Given the description of an element on the screen output the (x, y) to click on. 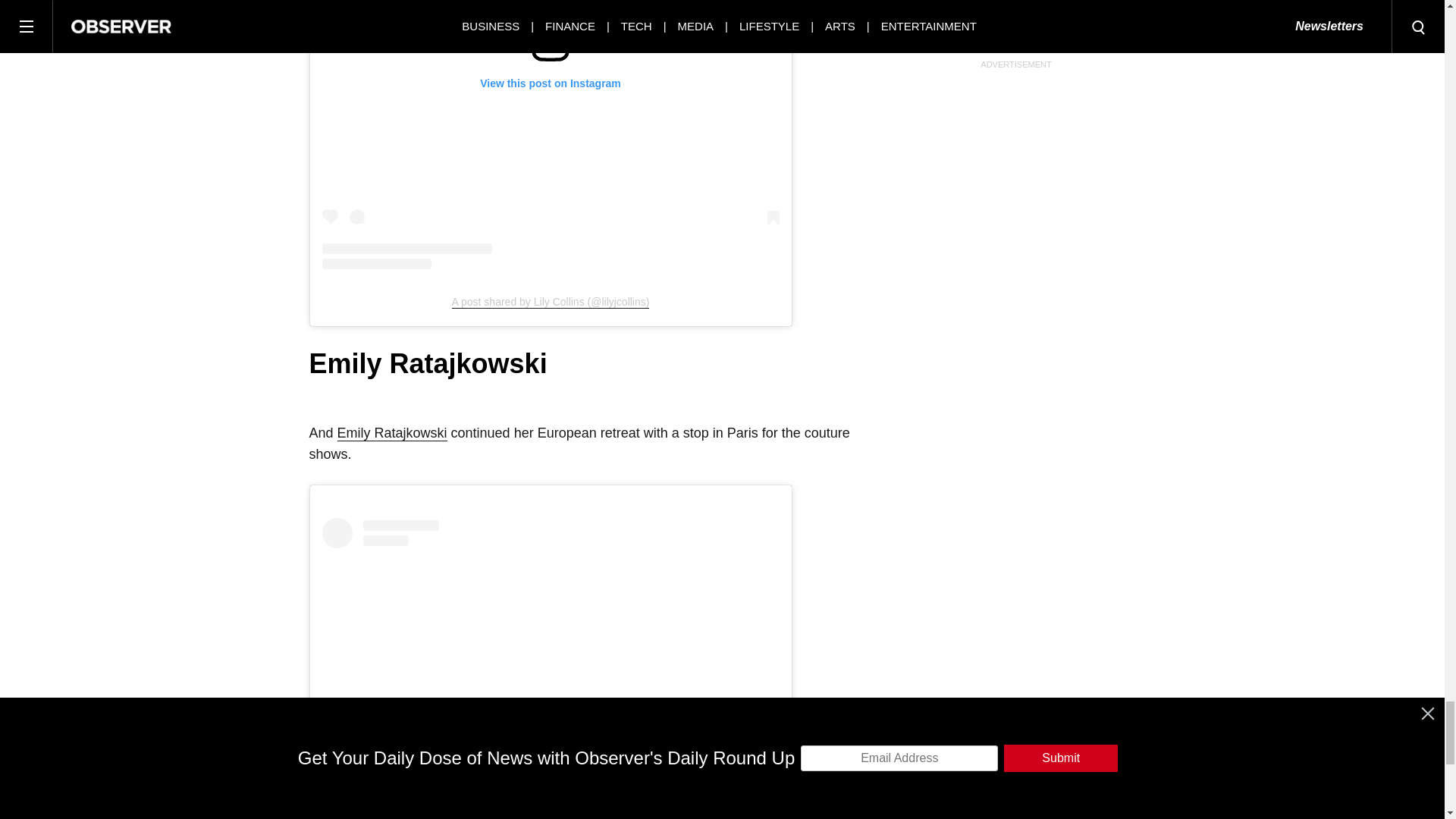
Emily Ratajkowski (391, 433)
